Given the description of an element on the screen output the (x, y) to click on. 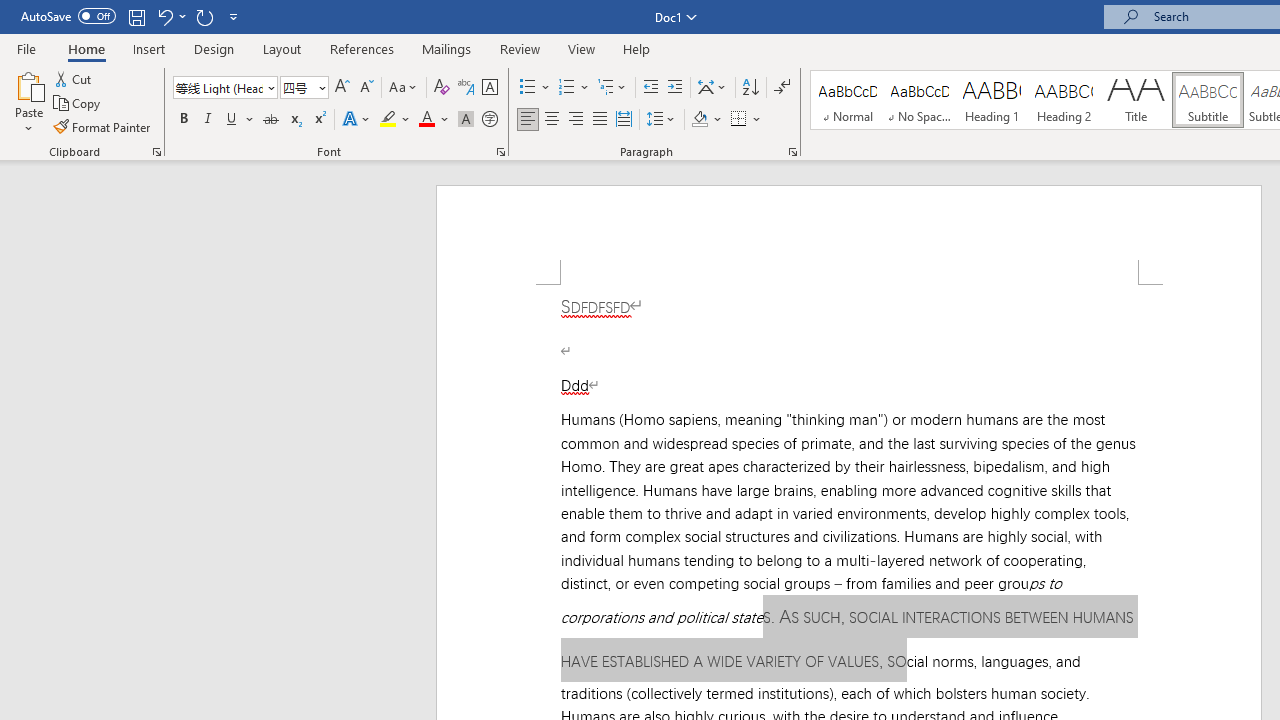
Home (86, 48)
Sort... (750, 87)
Font... (500, 151)
Save (136, 15)
Font Color RGB(255, 0, 0) (426, 119)
Undo Style (164, 15)
Asian Layout (712, 87)
Shrink Font (365, 87)
Subtitle (1208, 100)
Heading 2 (1063, 100)
Title (1135, 100)
Quick Access Toolbar (131, 16)
Borders (746, 119)
Heading 1 (991, 100)
Font (224, 87)
